Given the description of an element on the screen output the (x, y) to click on. 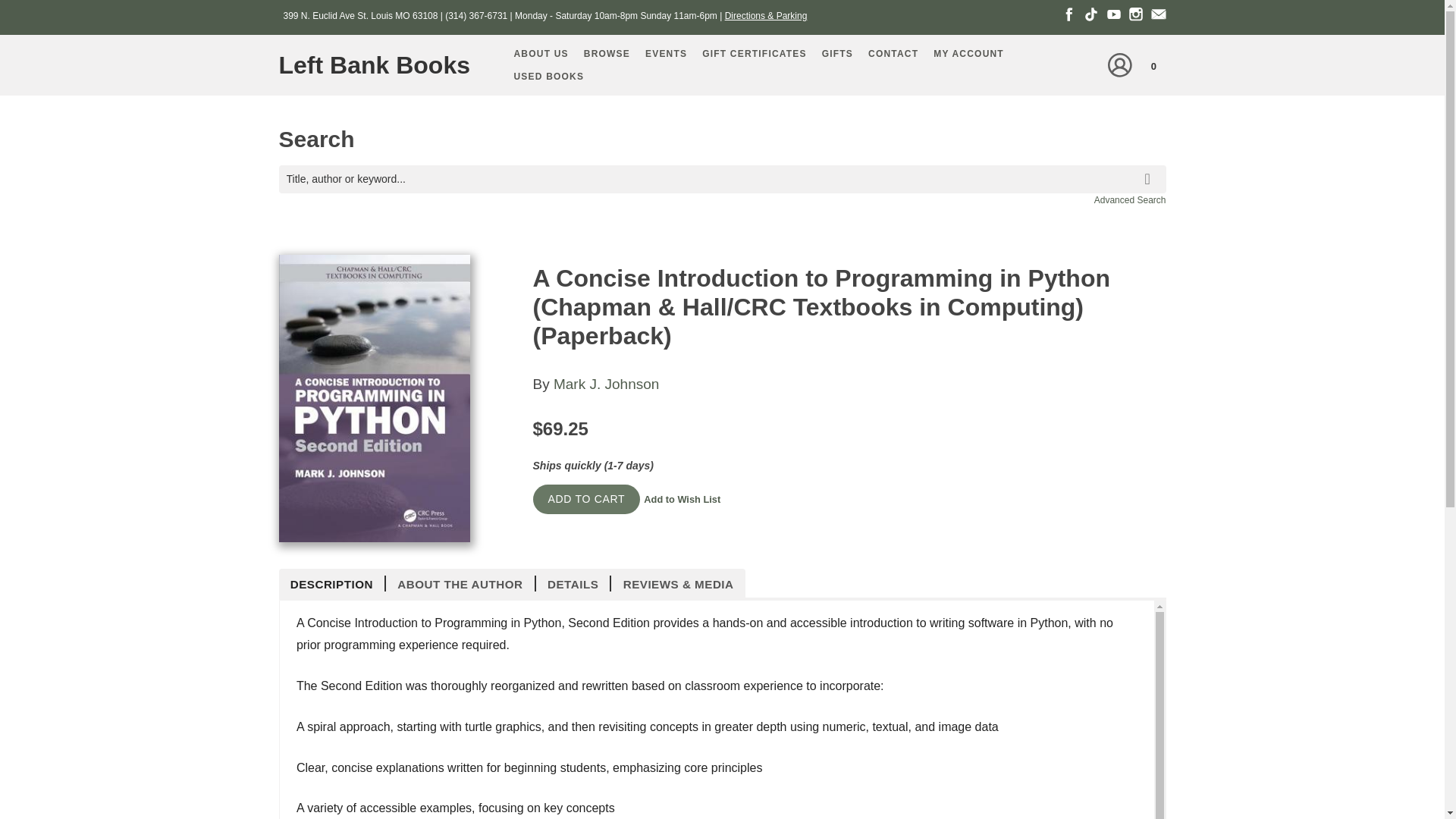
ABOUT US (541, 53)
Add to Cart (586, 499)
BROWSE (606, 53)
GIFT CERTIFICATES (753, 53)
Home (381, 64)
EVENTS (665, 53)
Title, author or keyword... (722, 179)
Left Bank Books (381, 64)
search (1150, 167)
GIFTS (836, 53)
T-Shirts, Gifts and More (836, 53)
